Given the description of an element on the screen output the (x, y) to click on. 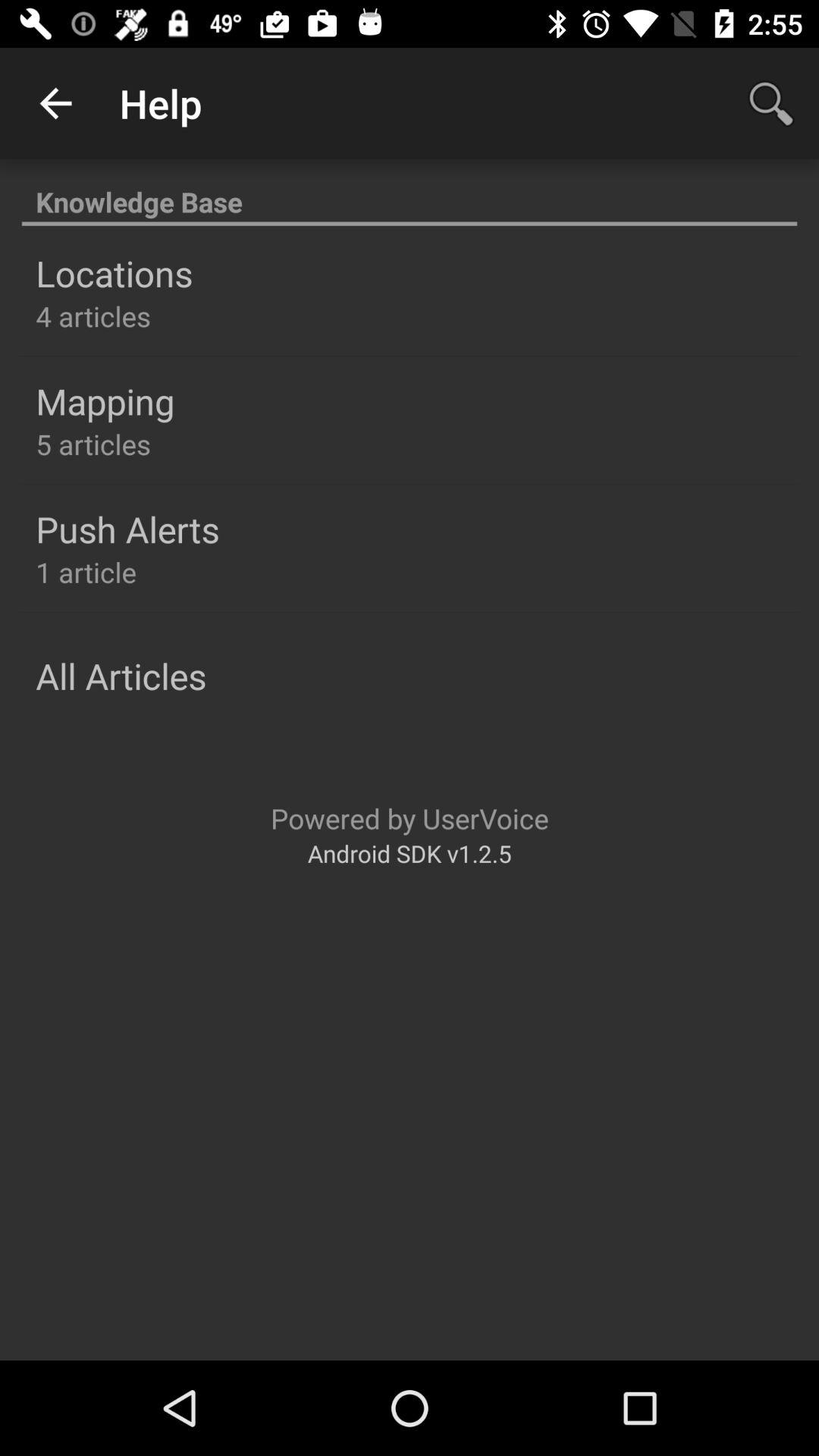
launch locations icon (113, 273)
